Given the description of an element on the screen output the (x, y) to click on. 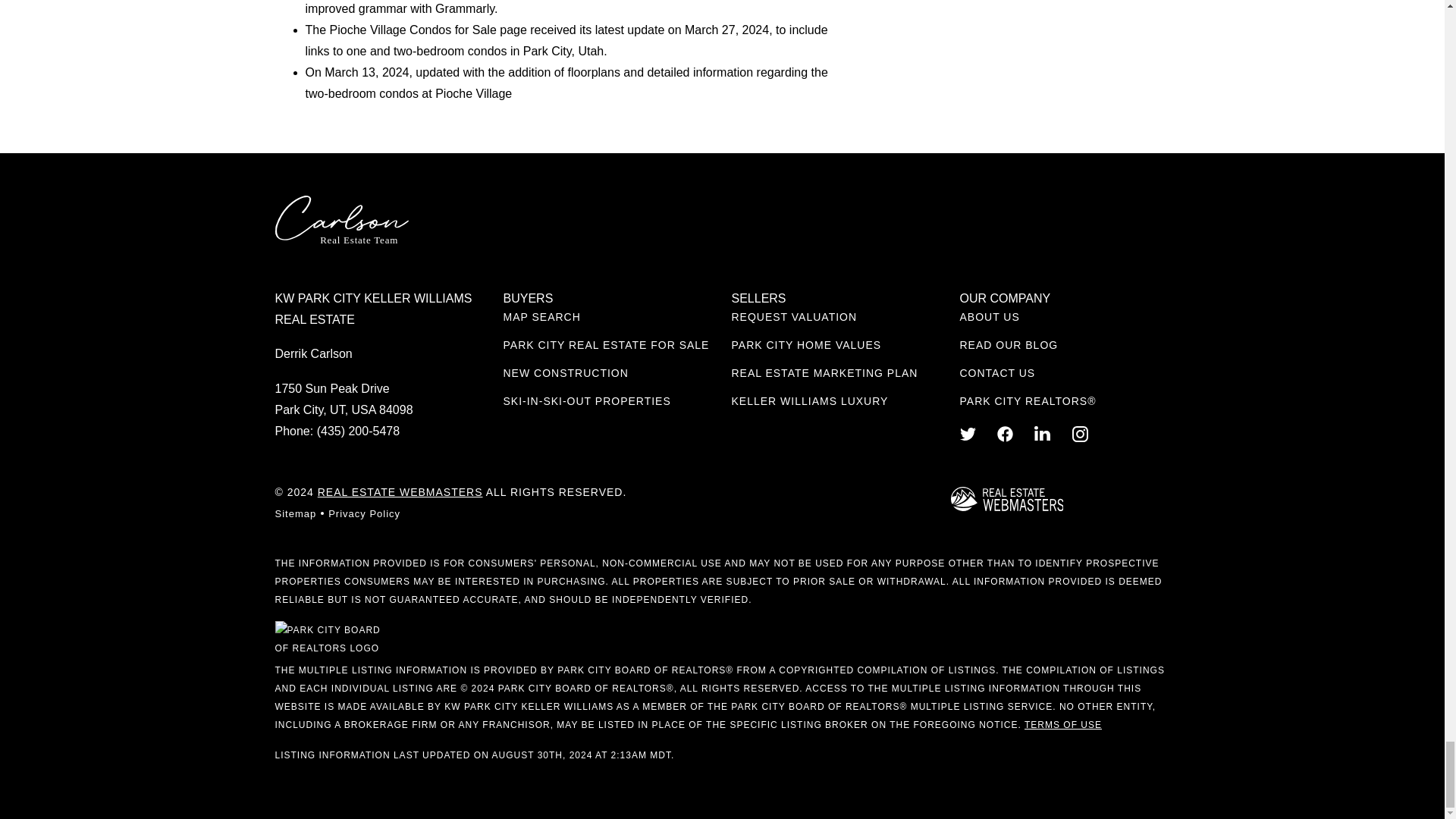
Real Estate Team (341, 220)
TWITTER (967, 433)
FACEBOOK (1005, 433)
LINKEDIN (1041, 433)
